Given the description of an element on the screen output the (x, y) to click on. 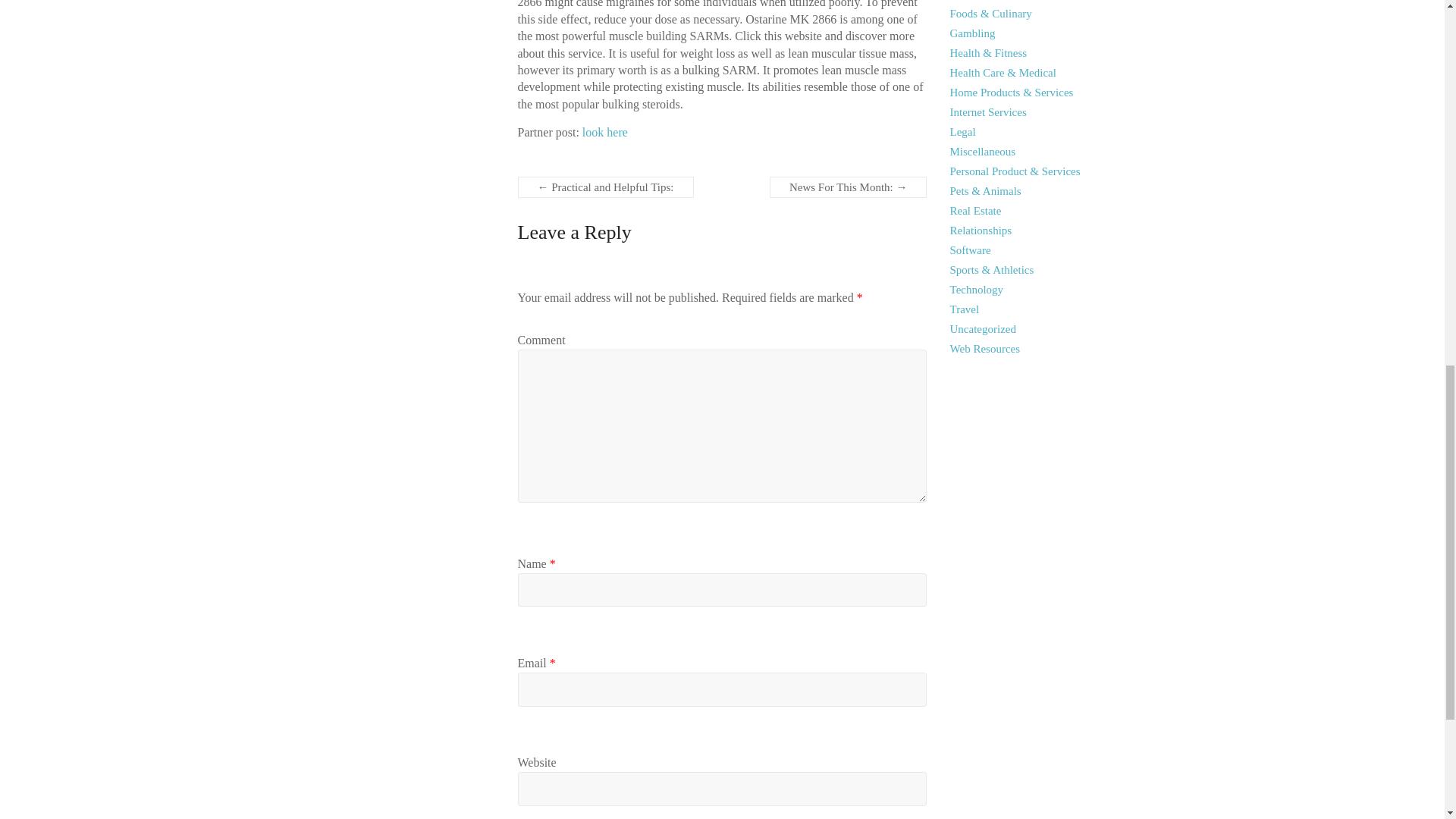
Gambling (972, 33)
look here (604, 132)
